Given the description of an element on the screen output the (x, y) to click on. 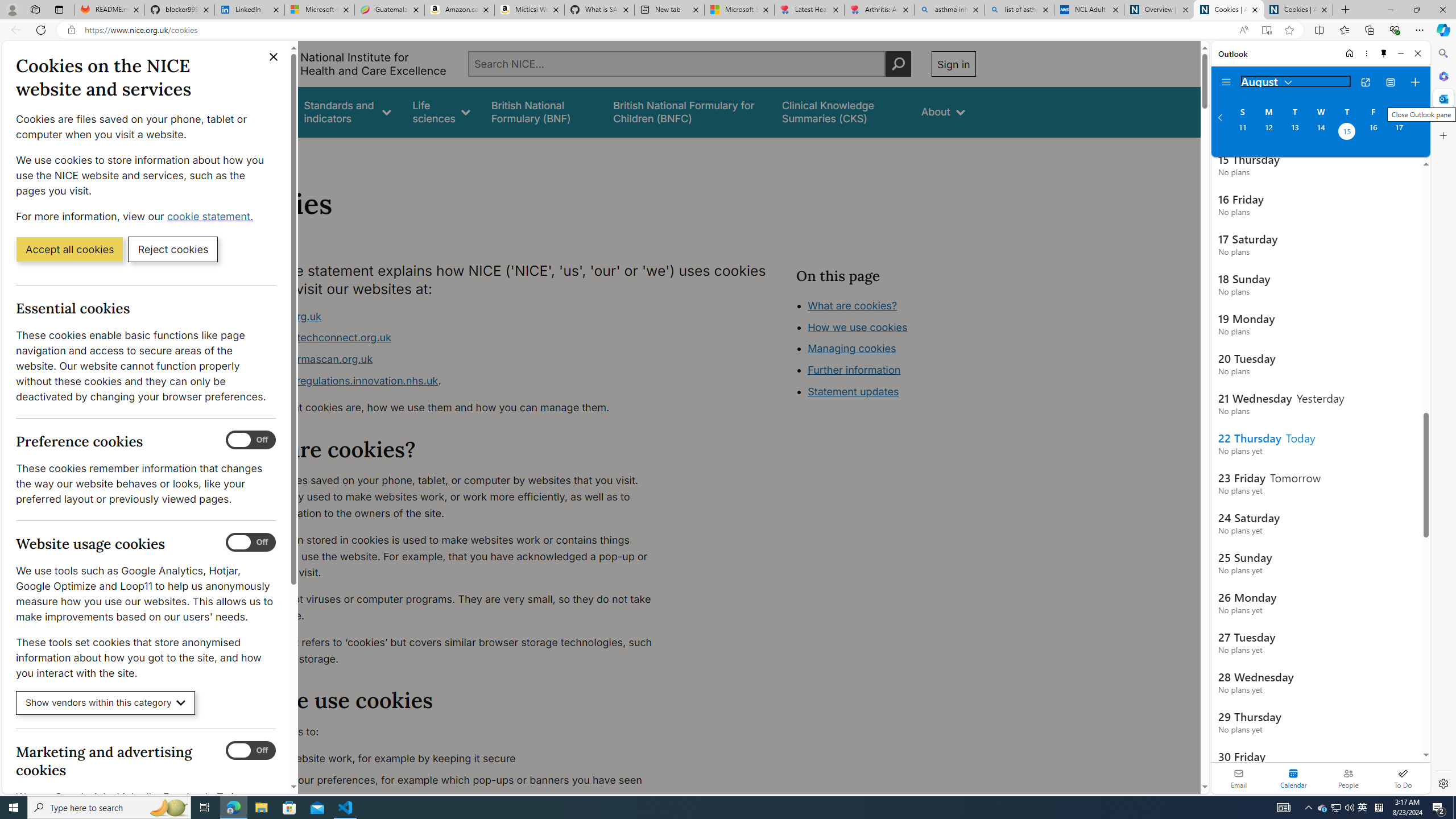
Wednesday, August 14, 2024.  (1320, 132)
Sign in (952, 63)
Close cookie banner (273, 56)
To Do (1402, 777)
Further information (854, 369)
www.ukpharmascan.org.uk (452, 359)
Thursday, August 15, 2024. Date selected.  (1346, 132)
cookie statement. (Opens in a new window) (211, 215)
Folder navigation (1225, 82)
